Given the description of an element on the screen output the (x, y) to click on. 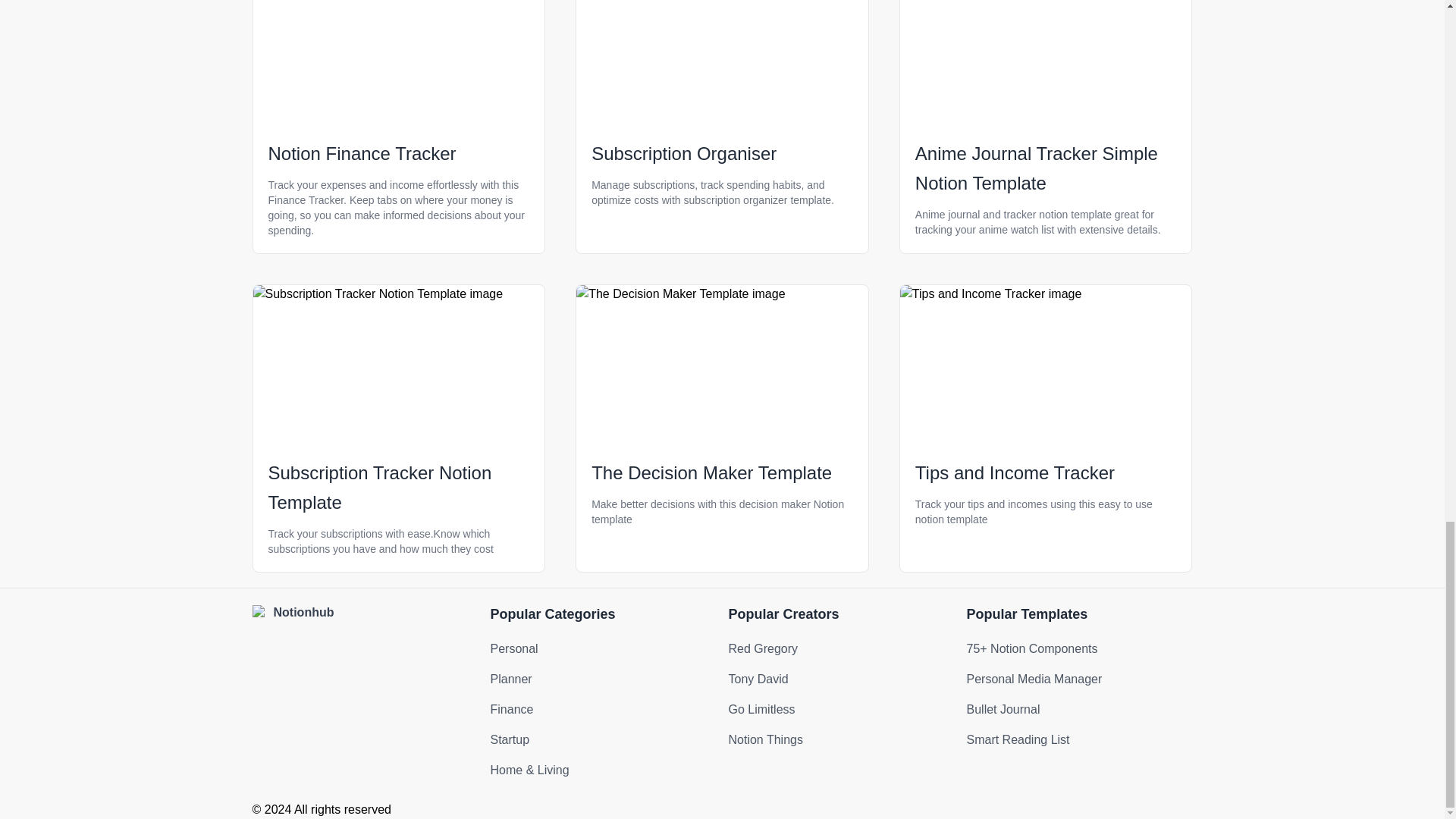
Planner (510, 678)
Personal Media Manager (1034, 678)
Personal (513, 648)
Red Gregory (762, 648)
Notionhub (364, 612)
Tony David (757, 678)
Go Limitless (761, 708)
Notion Things (765, 739)
Finance (510, 708)
